Given the description of an element on the screen output the (x, y) to click on. 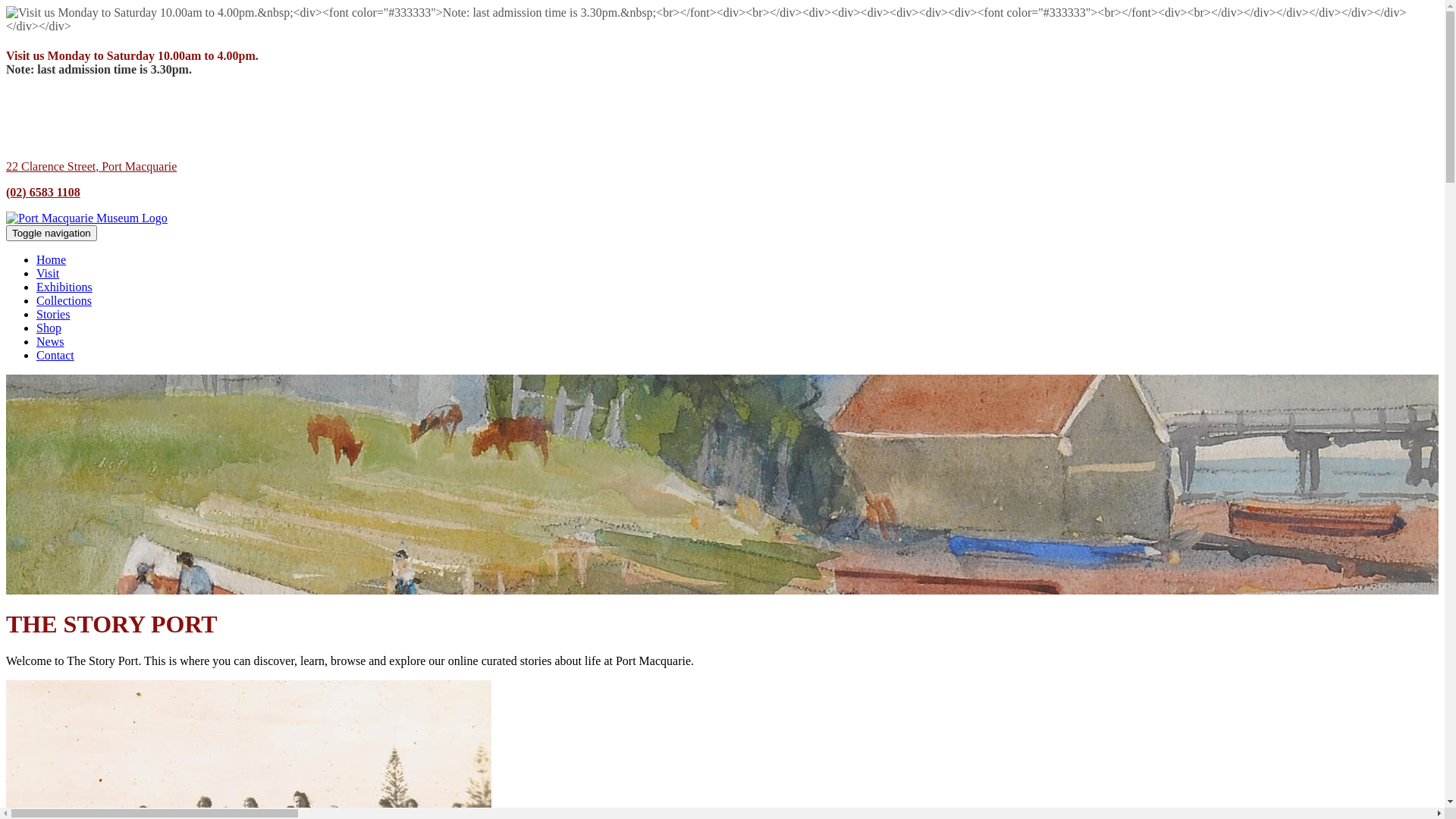
Shop Element type: text (48, 327)
Exhibitions Element type: text (64, 286)
22 Clarence Street, Port Macquarie Element type: text (91, 166)
Toggle navigation Element type: text (51, 233)
Contact Element type: text (55, 354)
Stories Element type: text (52, 313)
News Element type: text (49, 341)
Home Element type: text (50, 259)
Visit Element type: text (47, 272)
(02) 6583 1108 Element type: text (43, 191)
Collections Element type: text (63, 300)
